Given the description of an element on the screen output the (x, y) to click on. 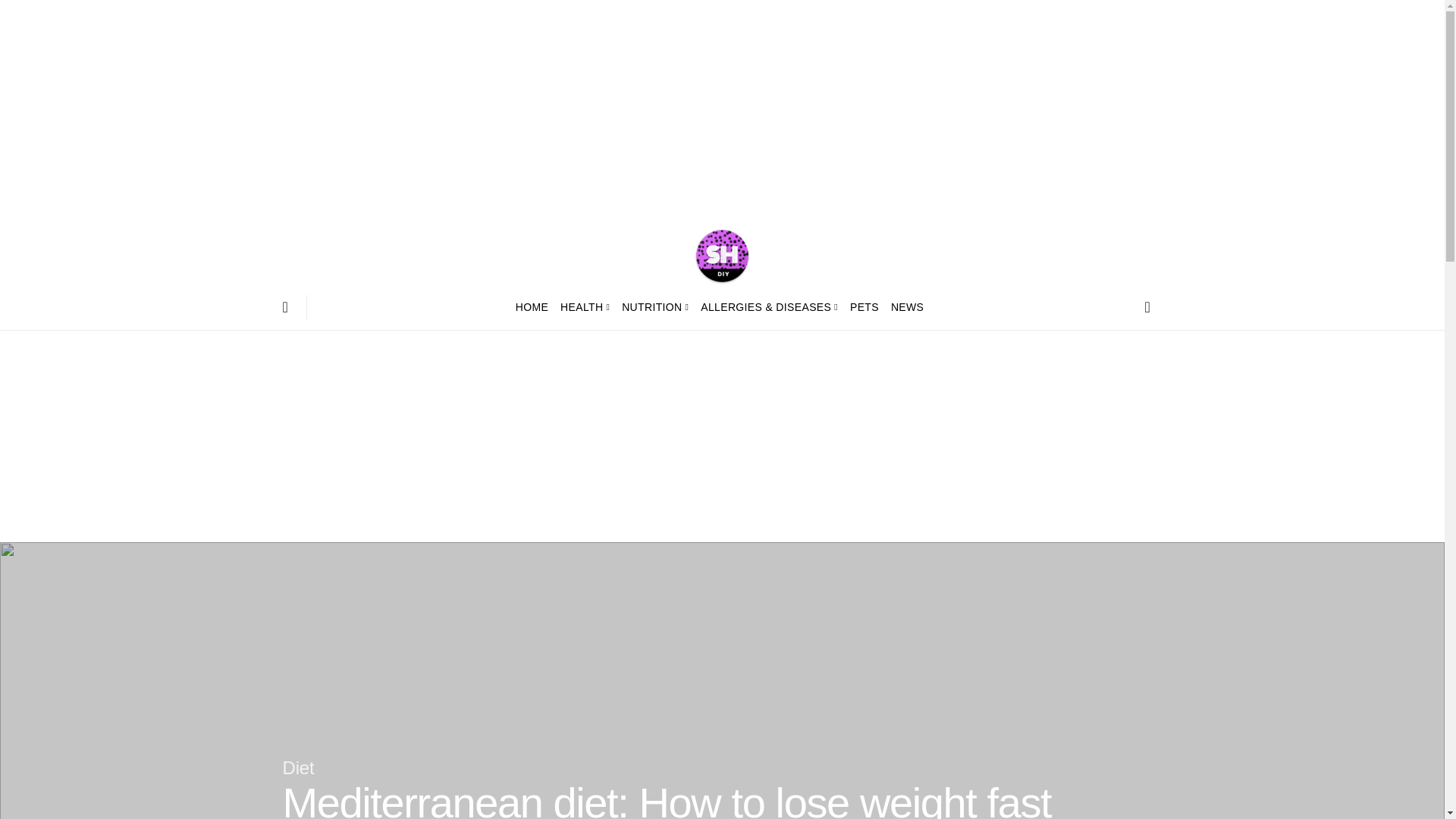
HEALTH (584, 307)
NUTRITION (654, 307)
